Given the description of an element on the screen output the (x, y) to click on. 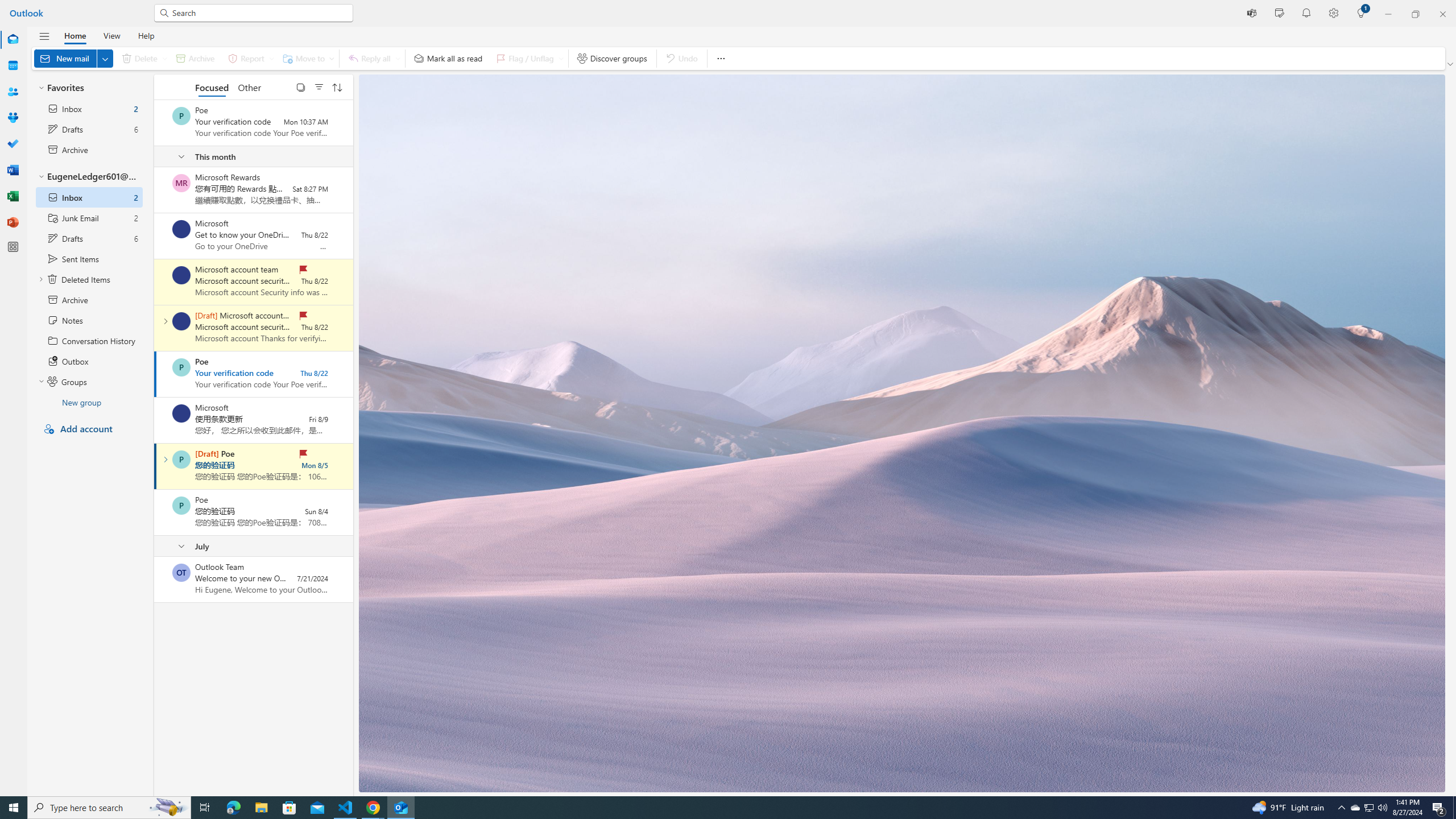
Search for email, meetings, files and more. (258, 12)
Microsoft Rewards (180, 182)
Mail (12, 39)
Sorted: By Date (336, 86)
Outlook Team (180, 572)
Hide navigation pane (44, 36)
Calendar (12, 65)
Groups (12, 118)
Mark as read (154, 465)
Move to (306, 58)
Expand to see more New options (104, 58)
Excel (12, 196)
